Given the description of an element on the screen output the (x, y) to click on. 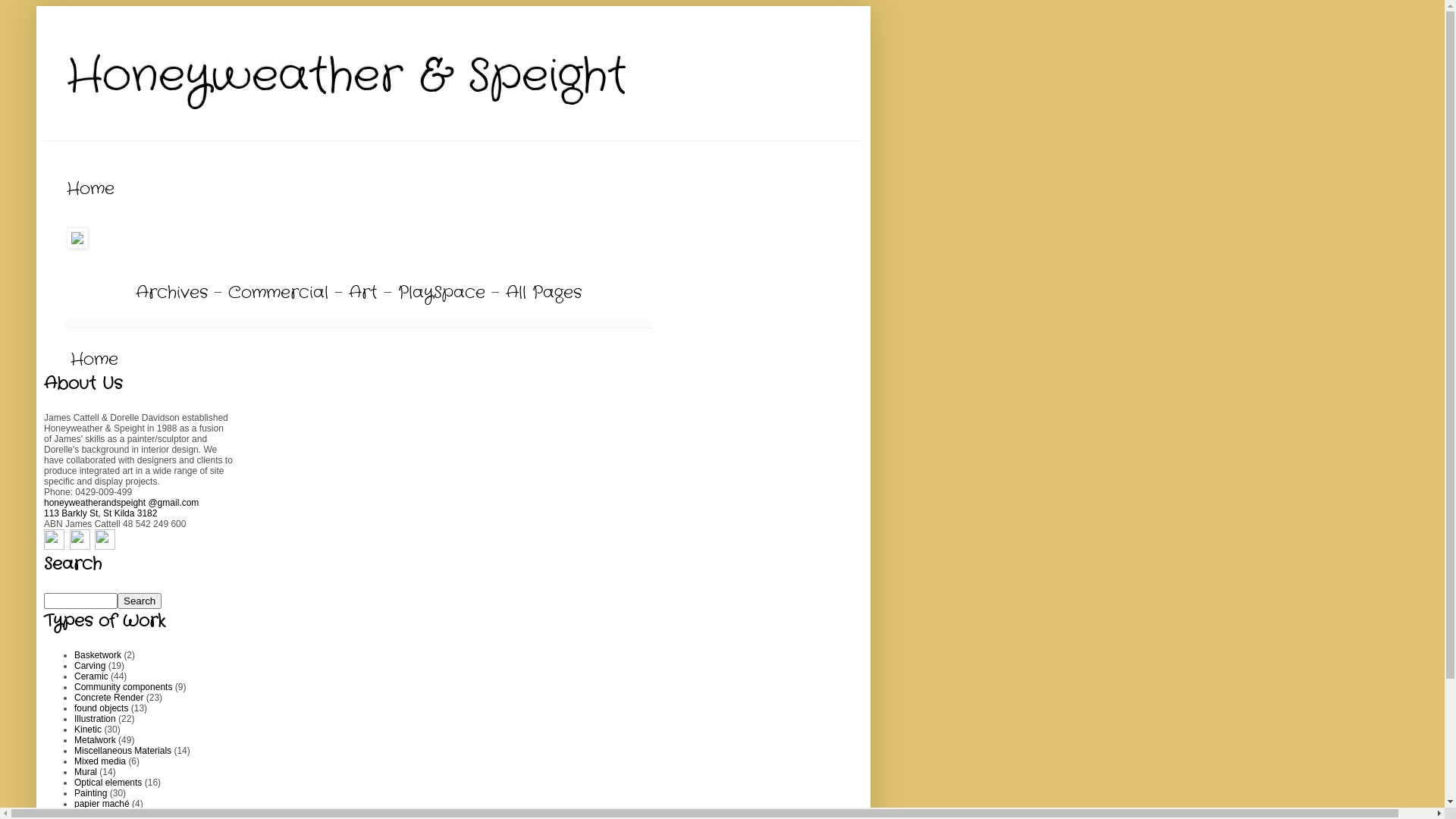
search Element type: hover (80, 600)
Illustration Element type: text (95, 718)
Optical elements Element type: text (107, 782)
honeyweatherandspeight @gmail.com Element type: text (120, 502)
Ceramic Element type: text (91, 676)
Mural Element type: text (85, 771)
Home Element type: text (94, 359)
Miscellaneous Materials Element type: text (122, 750)
Basketwork Element type: text (97, 654)
Honeyweather & Speight Element type: text (346, 76)
Search Element type: text (139, 600)
Concrete Render Element type: text (108, 697)
Art Element type: text (362, 292)
Community components Element type: text (123, 686)
Mixed media Element type: text (99, 761)
search Element type: hover (139, 600)
Kinetic Element type: text (87, 729)
PlaySpace Element type: text (441, 292)
Metalwork Element type: text (95, 739)
Archives Element type: text (171, 292)
113 Barkly St, St Kilda 3182 Element type: text (99, 513)
Painting Element type: text (90, 792)
found objects Element type: text (101, 707)
Carving Element type: text (89, 665)
Commercial Element type: text (278, 292)
All Pages Element type: text (543, 292)
